Given the description of an element on the screen output the (x, y) to click on. 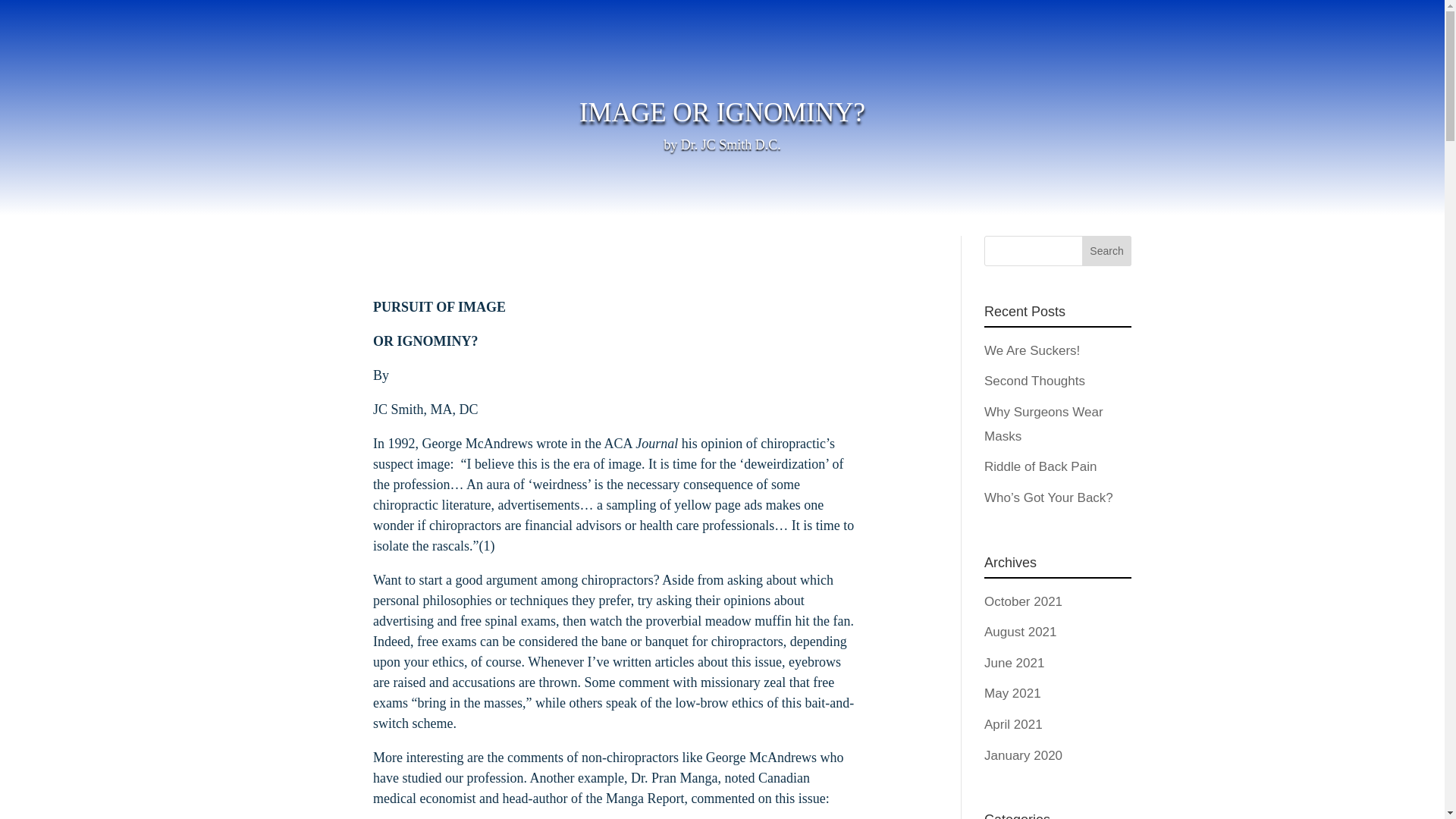
January 2020 (1023, 755)
Search (1106, 250)
April 2021 (1013, 724)
Riddle of Back Pain (1040, 466)
August 2021 (1020, 631)
Dr. JC Smith D.C. (730, 144)
Posts by Dr. JC Smith D.C. (730, 144)
We Are Suckers! (1032, 350)
June 2021 (1013, 663)
Why Surgeons Wear Masks (1043, 423)
